Given the description of an element on the screen output the (x, y) to click on. 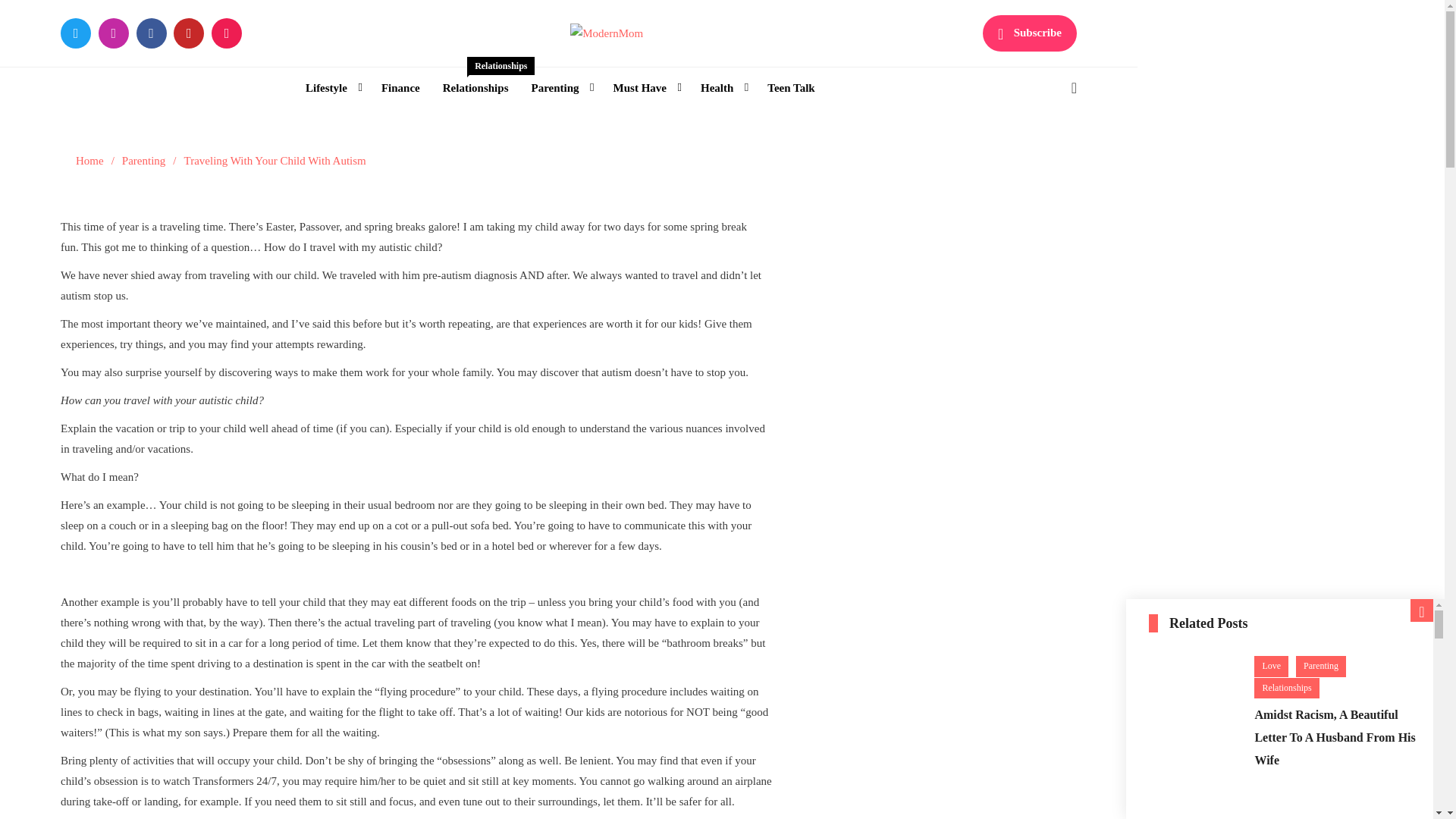
Search (1034, 151)
Home (89, 160)
Health (721, 88)
ModernMom (648, 64)
Subscribe (1029, 33)
Lifestyle (331, 88)
Teen Talk (790, 88)
Must Have (645, 88)
Finance (399, 88)
